Given the description of an element on the screen output the (x, y) to click on. 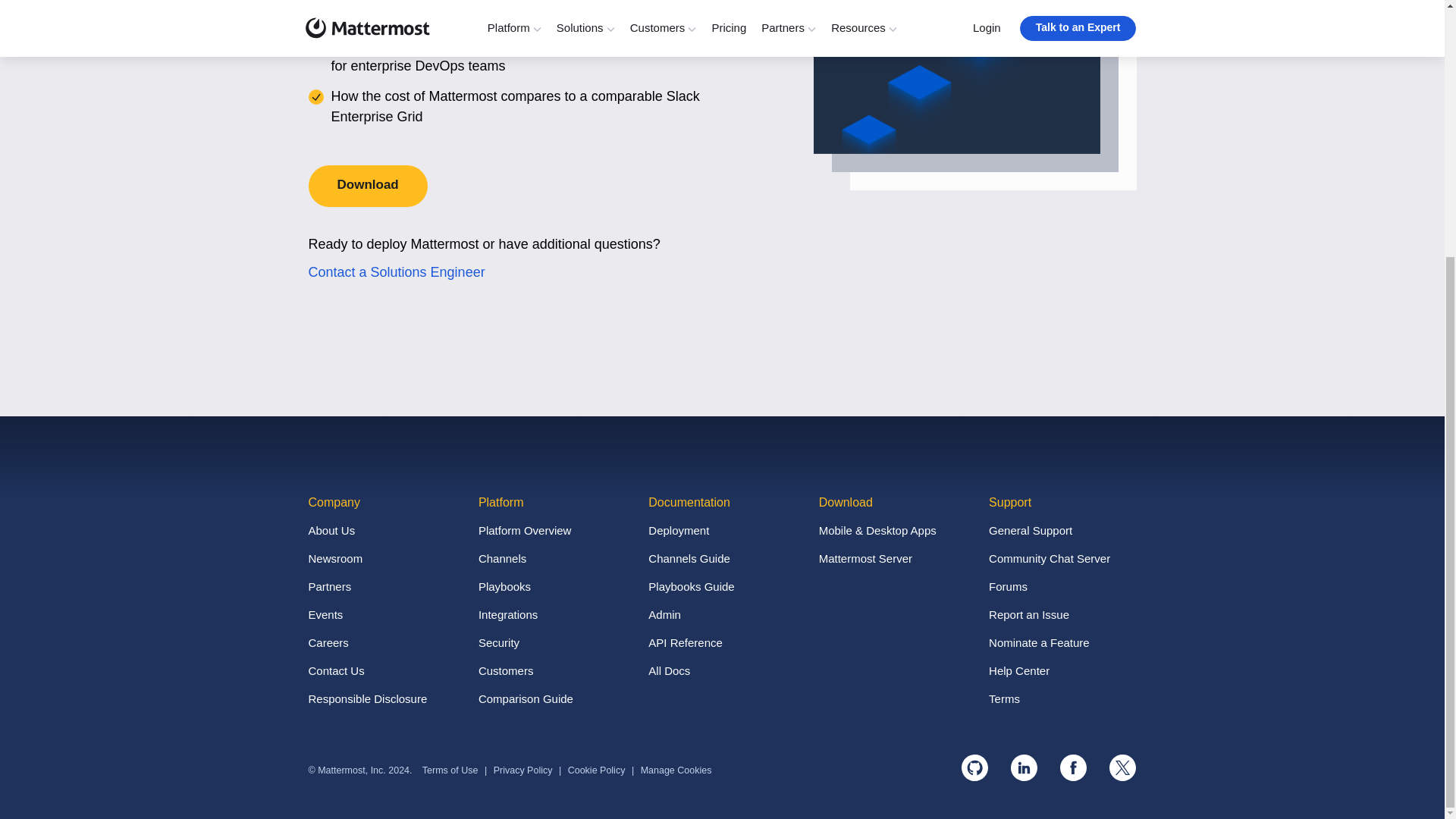
Facebook icon (1072, 767)
Privacy Policy (523, 769)
LinkedIn icon (1023, 767)
GitHub icon (974, 767)
Terms of Service (450, 769)
X icon (1122, 767)
Manage Cookies (675, 769)
Cookie Policy (596, 769)
